Given the description of an element on the screen output the (x, y) to click on. 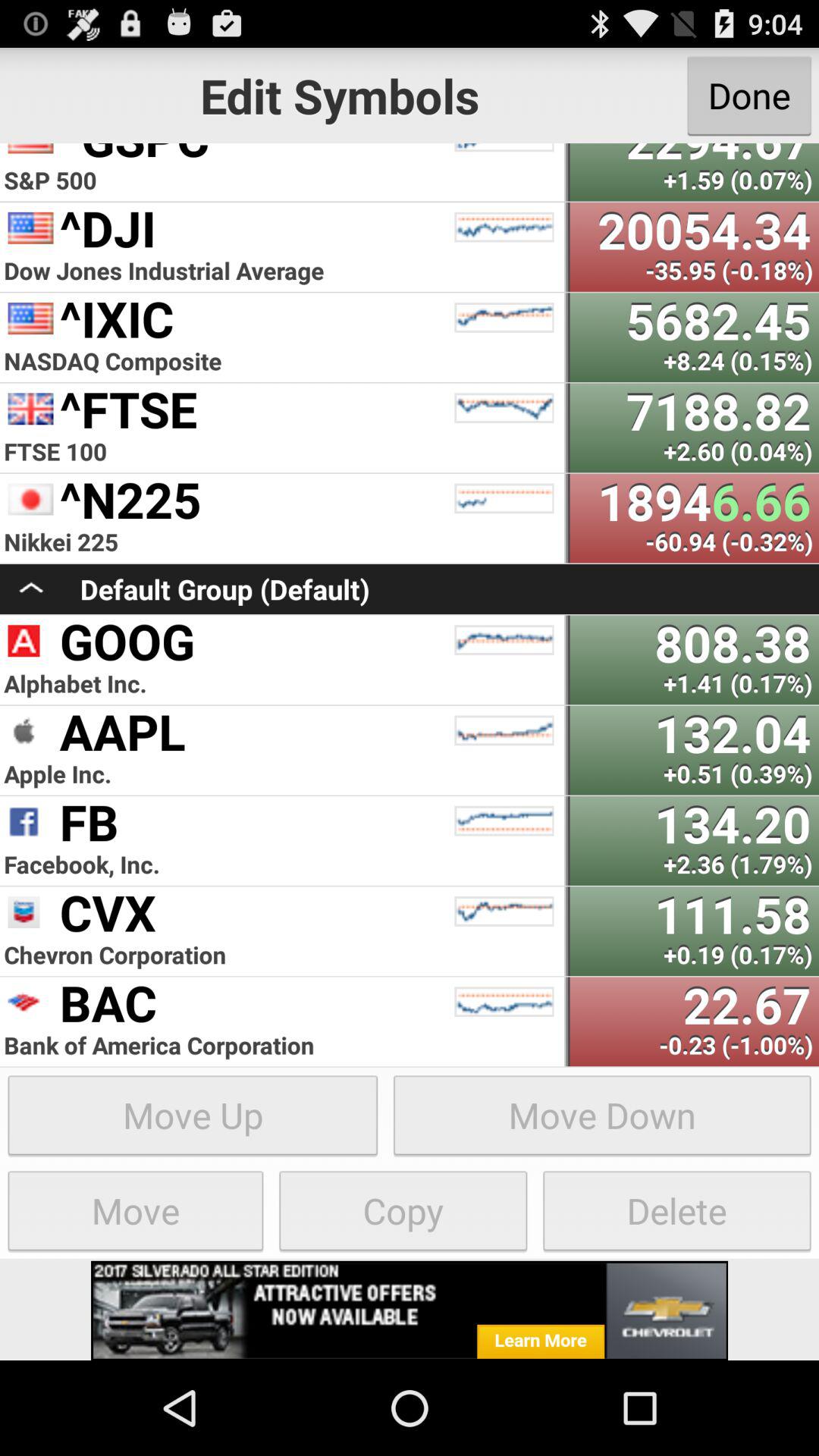
advertisement (409, 1310)
